Given the description of an element on the screen output the (x, y) to click on. 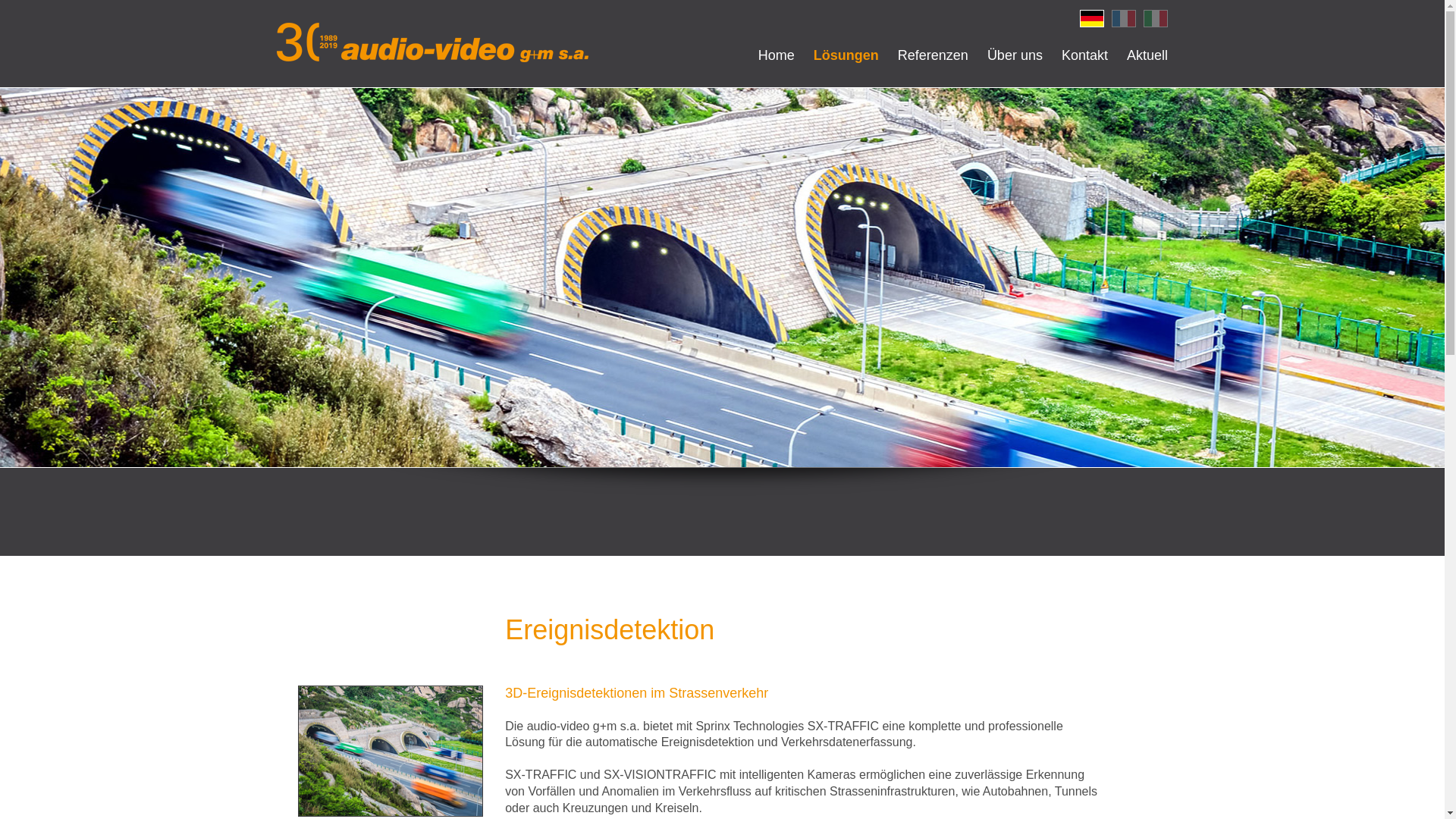
Kontakt Element type: text (1084, 55)
Home Element type: text (776, 55)
Aktuell Element type: text (1146, 55)
Referenzen Element type: text (932, 55)
